Given the description of an element on the screen output the (x, y) to click on. 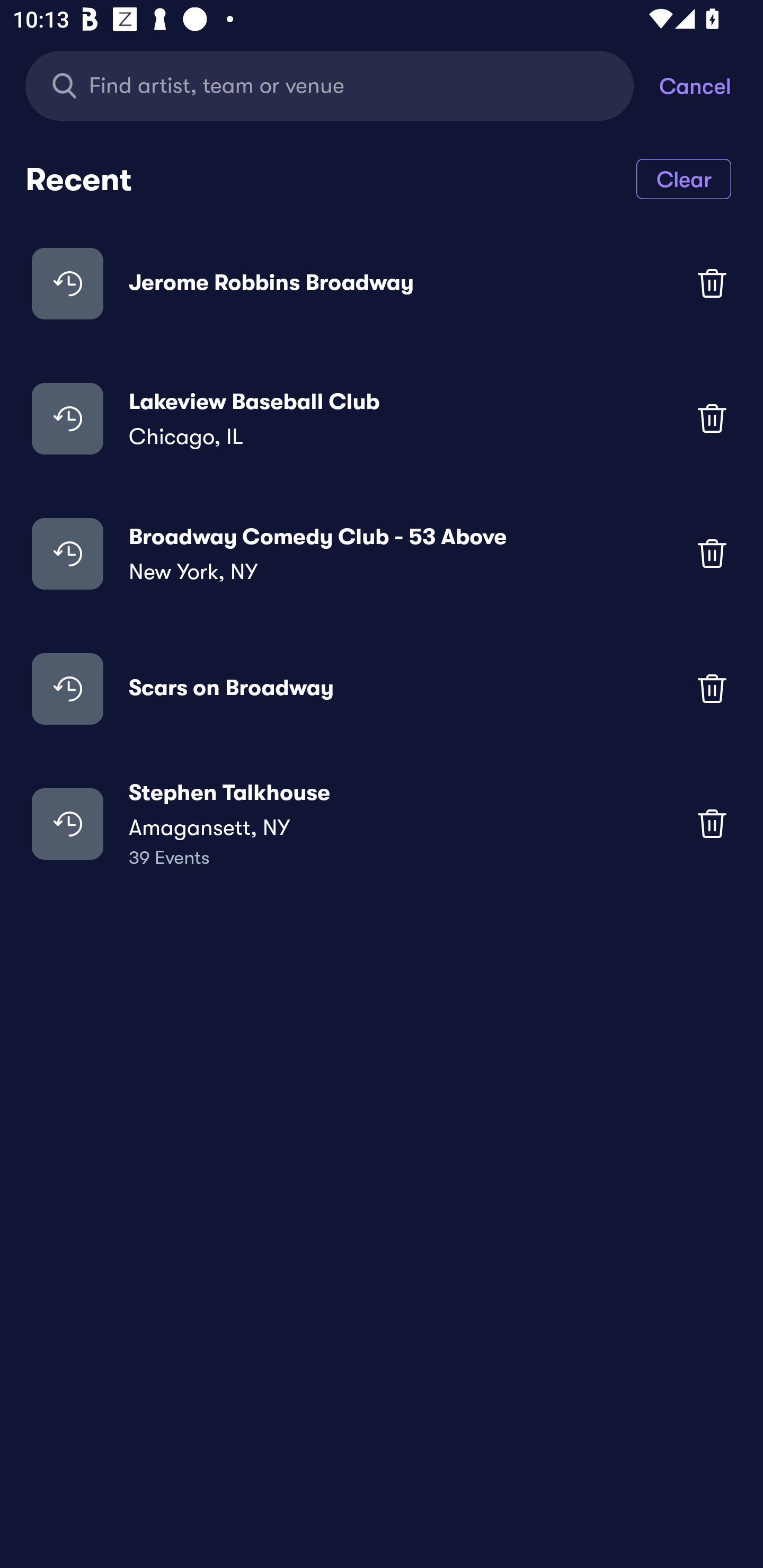
Find artist, team or venue Find (329, 85)
Find artist, team or venue Find (342, 85)
Cancel (711, 85)
Clear (683, 178)
Jerome Robbins Broadway (381, 282)
Lakeview Baseball Club Chicago, IL (381, 417)
Broadway Comedy Club - 53 Above New York, NY (381, 553)
Scars on Broadway (381, 688)
Stephen Talkhouse Amagansett, NY 39 Events (381, 823)
